Given the description of an element on the screen output the (x, y) to click on. 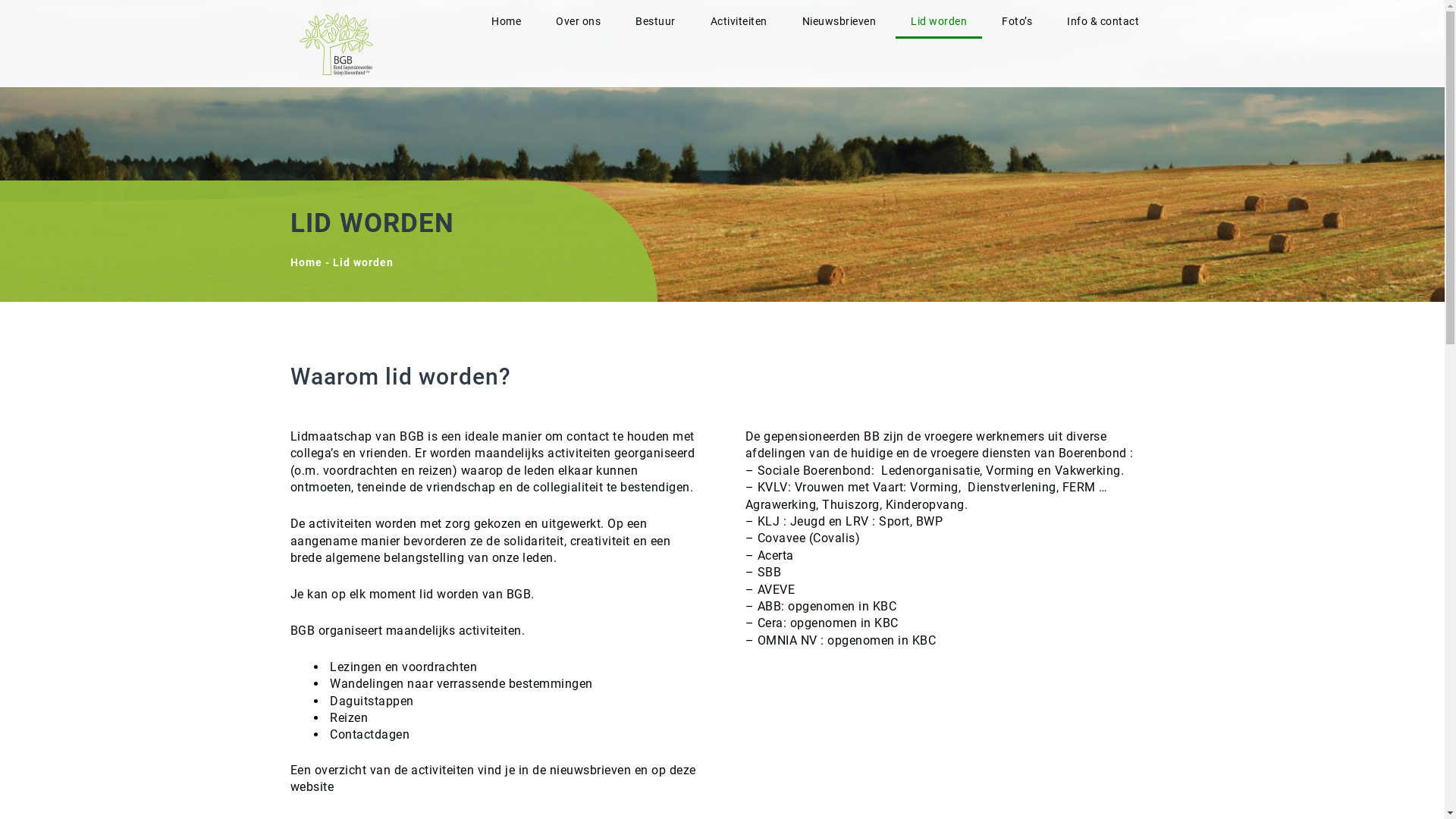
Nieuwsbrieven Element type: text (839, 20)
Home Element type: text (506, 20)
Over ons Element type: text (577, 20)
Activiteiten Element type: text (738, 20)
Lid worden Element type: text (938, 20)
Home Element type: text (305, 262)
Bestuur Element type: text (655, 20)
Info & contact Element type: text (1102, 20)
